Given the description of an element on the screen output the (x, y) to click on. 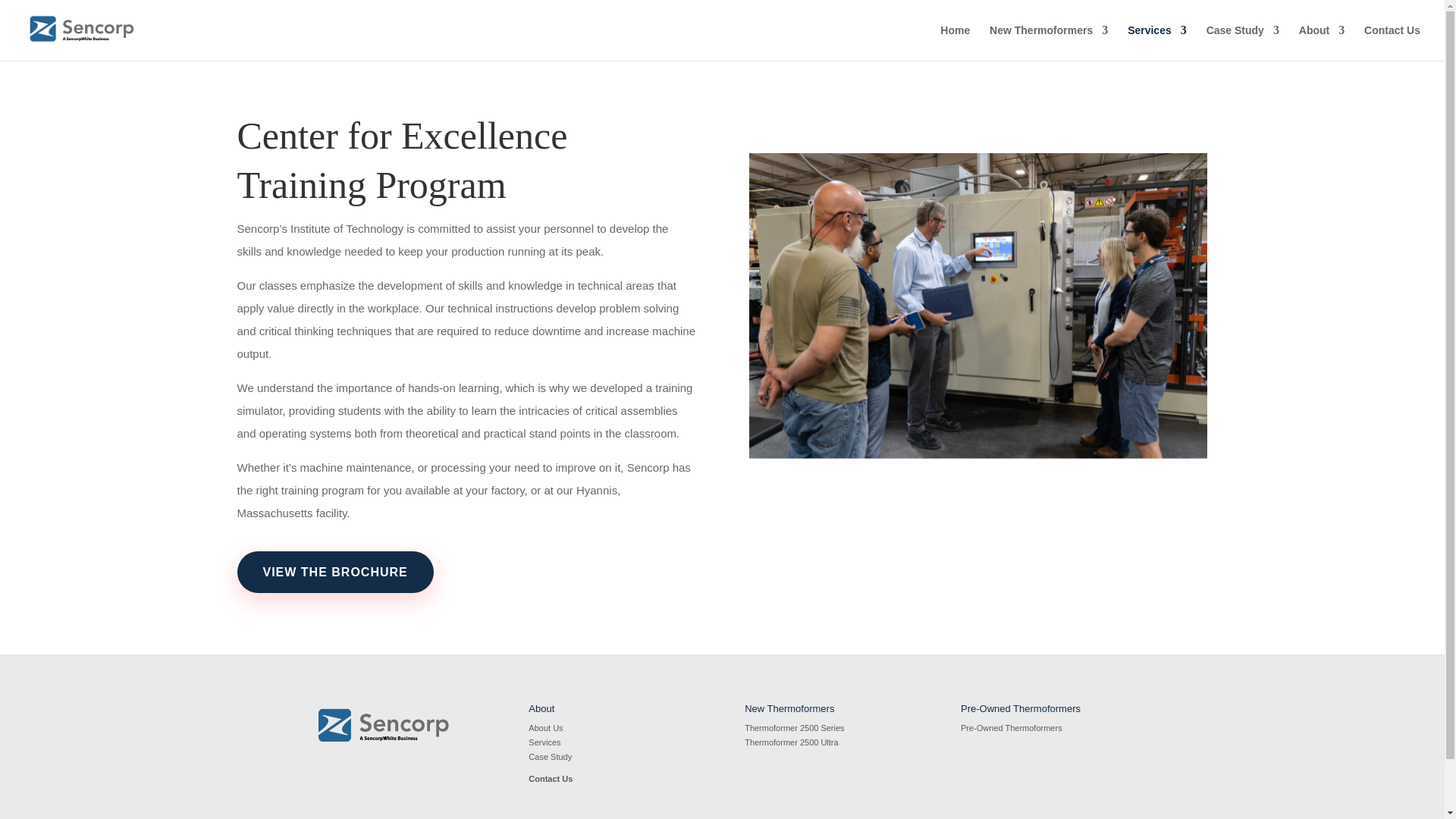
Contact Us (550, 777)
About (1320, 42)
Services (1156, 42)
Thermoformer 2500 Ultra (791, 741)
Case Study (1243, 42)
Services (544, 741)
Thermoformer 2500 Series (794, 727)
Pre-Owned Thermoformers (1011, 727)
VIEW THE BROCHURE (333, 571)
Contact Us (1392, 42)
Case Study (550, 756)
New Thermoformers (1049, 42)
About Us (545, 727)
